Given the description of an element on the screen output the (x, y) to click on. 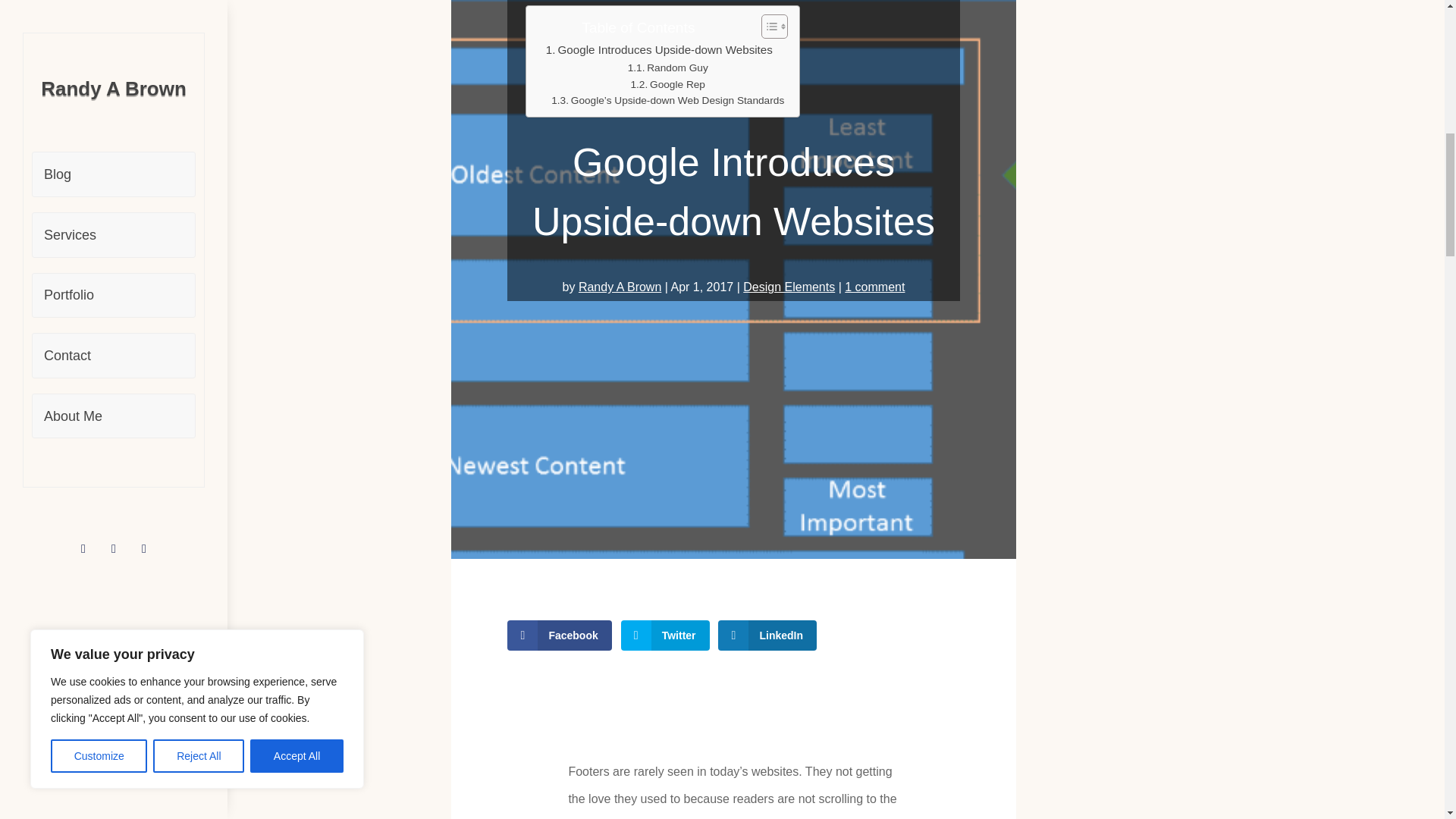
Google Introduces Upside-down Websites (659, 49)
Random Guy (667, 67)
Posts by Randy A Brown (619, 286)
Randy A Brown (619, 286)
1 comment (874, 286)
LinkedIn (766, 634)
Facebook (558, 634)
Google Rep (667, 84)
Random Guy (667, 67)
Google Rep (667, 84)
Design Elements (788, 286)
Google Introduces Upside-down Websites (659, 49)
Twitter (665, 634)
